Given the description of an element on the screen output the (x, y) to click on. 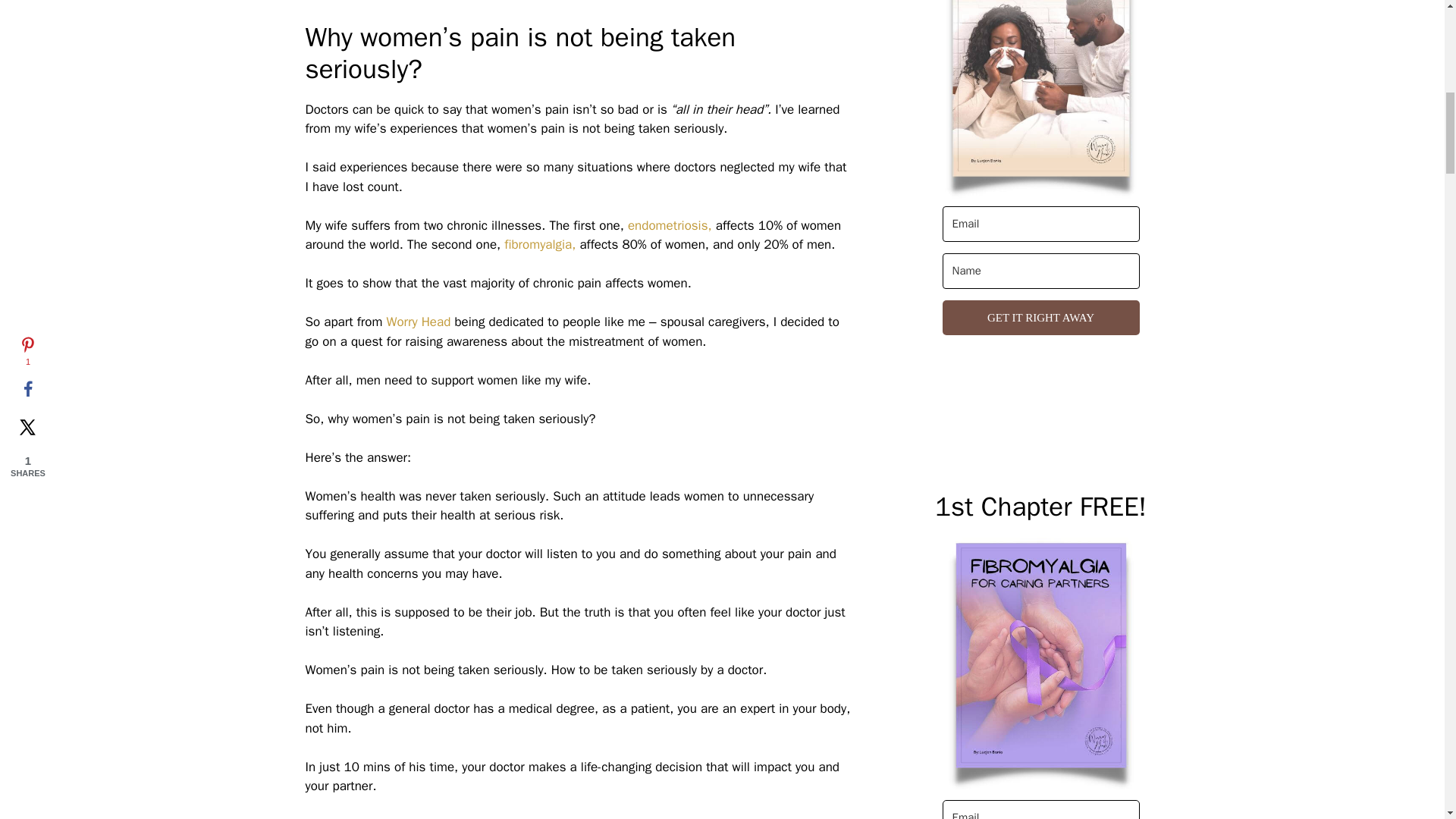
GET IT RIGHT AWAY (1040, 317)
Scroll back to top (1406, 720)
Worry Head (417, 321)
fibromyalgia, (539, 244)
endometriosis, (669, 225)
